Given the description of an element on the screen output the (x, y) to click on. 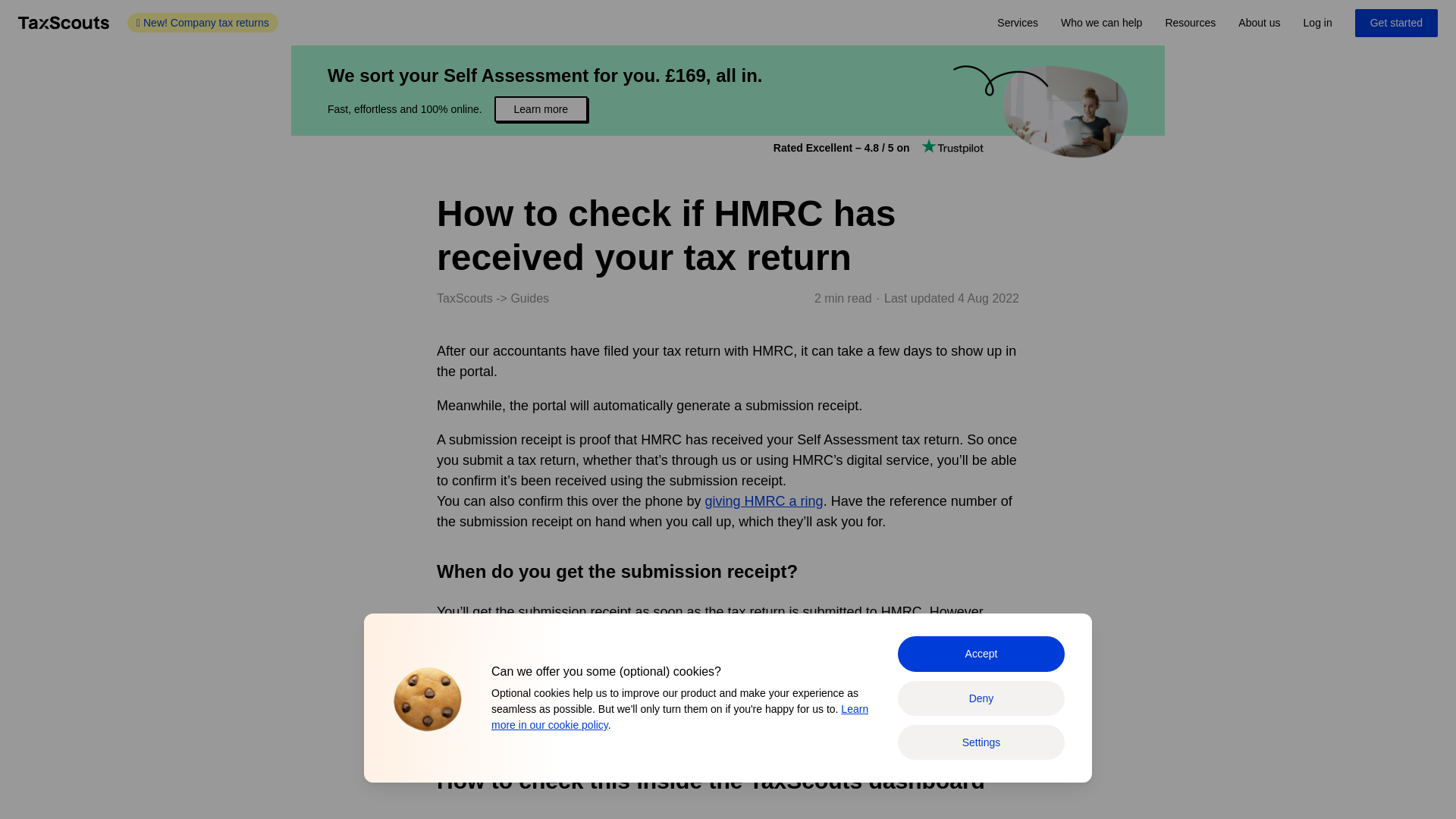
Deny (981, 697)
Settings (981, 742)
Services (1017, 22)
Get started (1396, 22)
Learn more in our cookie policy (679, 716)
Log in (1317, 22)
Accept (981, 653)
About us (1259, 22)
Resources (1190, 22)
Who we can help (1101, 22)
